Given the description of an element on the screen output the (x, y) to click on. 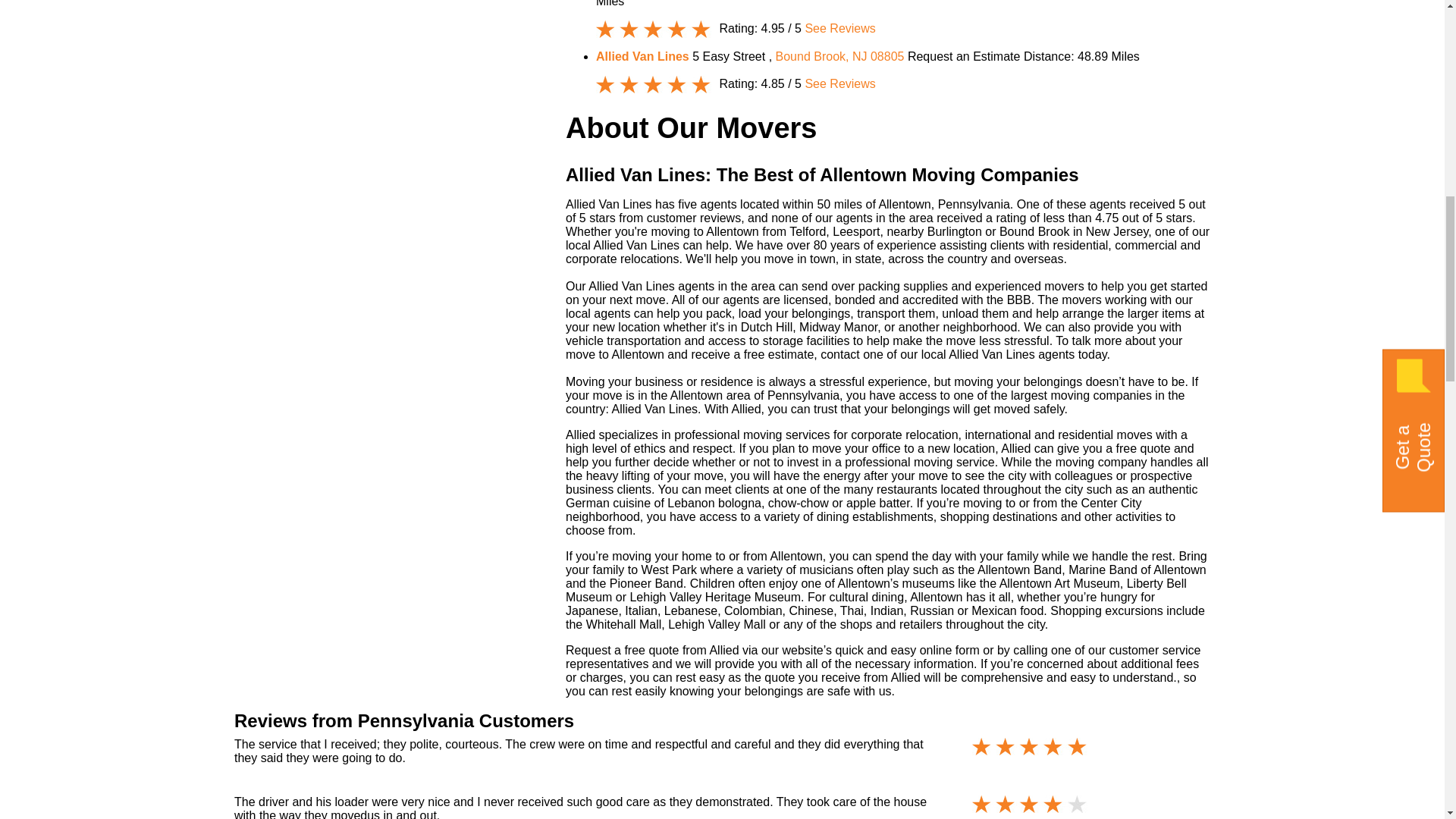
See Reviews (840, 28)
Contact Allied Van Lines to request and estimate (963, 56)
Allied Van Lines (644, 56)
View Allied Van Lines's reviews (840, 28)
